Given the description of an element on the screen output the (x, y) to click on. 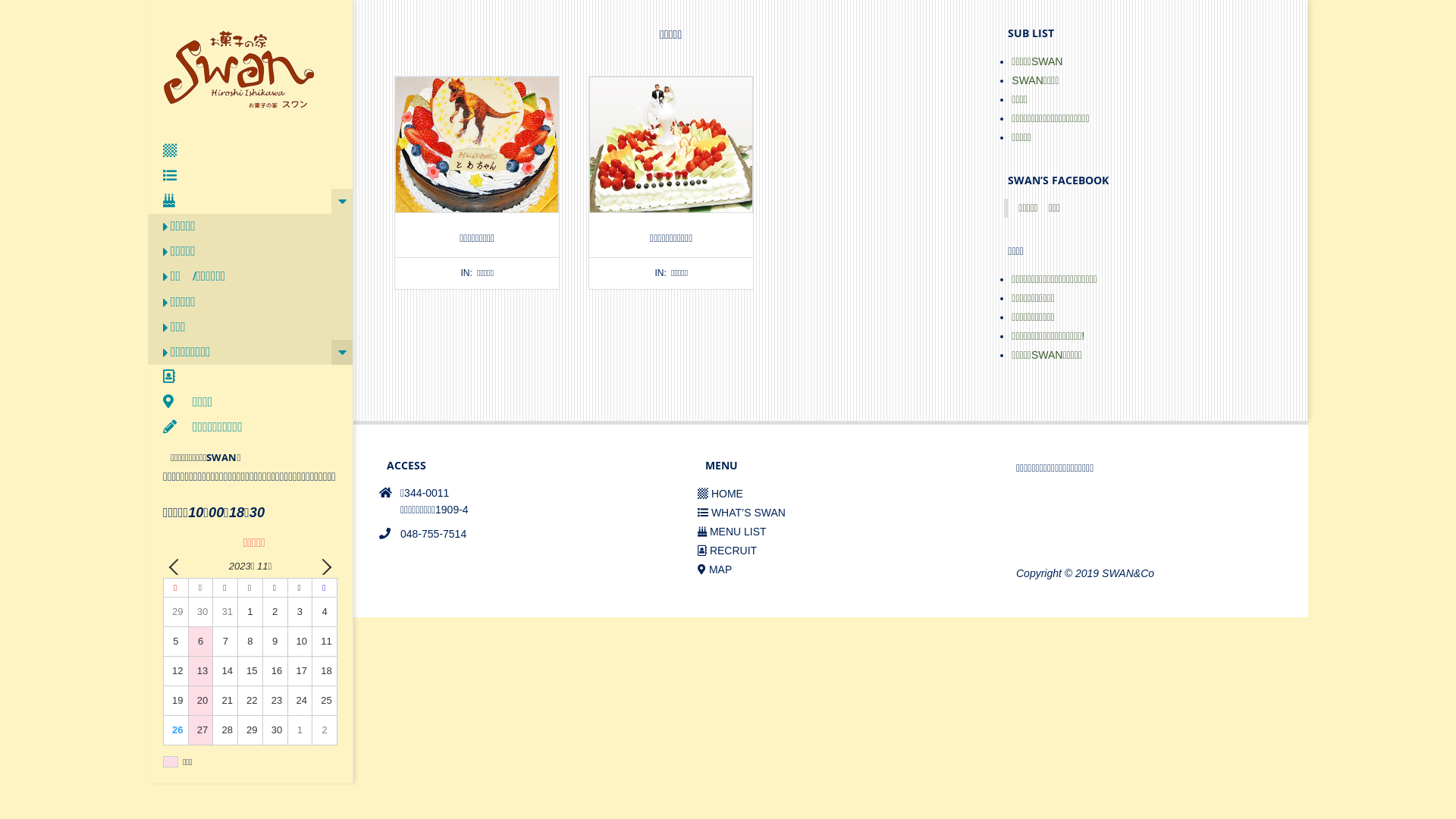
NEXT Element type: text (322, 565)
048-755-7514 Element type: text (433, 533)
PREV Element type: text (177, 565)
MAP Element type: text (714, 569)
RECRUIT Element type: text (726, 550)
MENU LIST Element type: text (731, 531)
HOME Element type: text (720, 493)
